Given the description of an element on the screen output the (x, y) to click on. 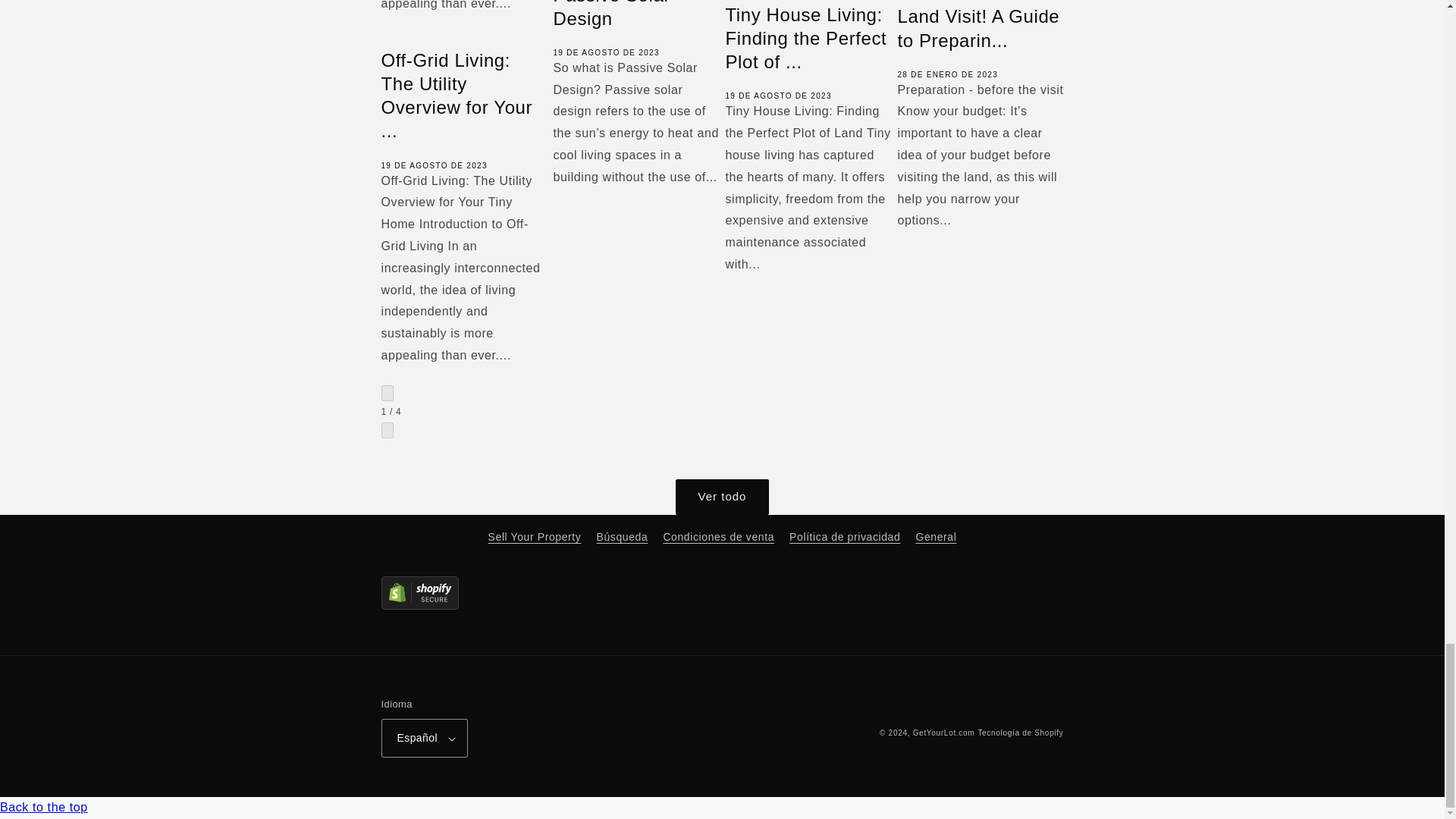
This online store is secured by Shopify (551, 596)
